Given the description of an element on the screen output the (x, y) to click on. 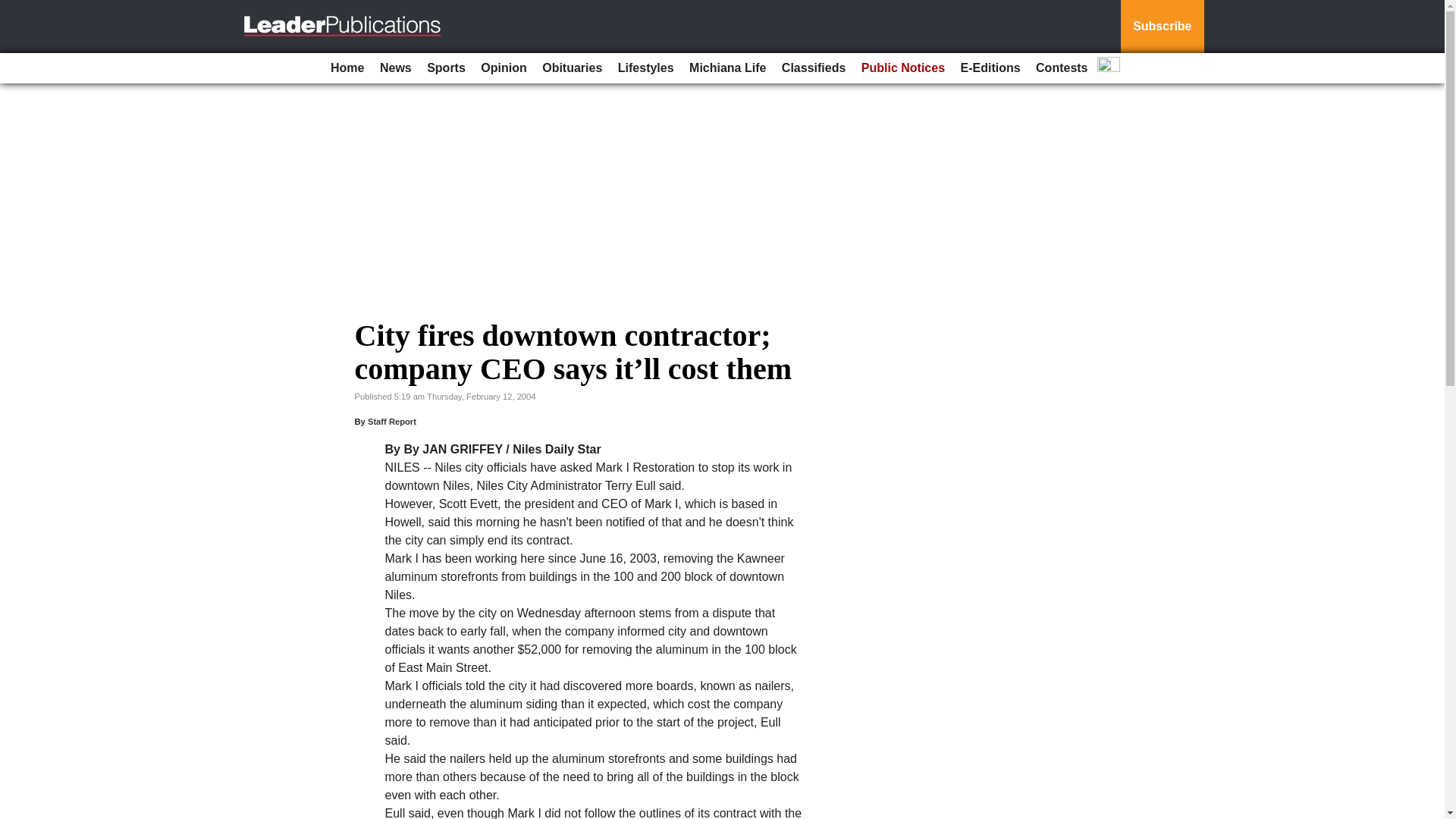
Go (13, 9)
Opinion (503, 68)
Staff Report (392, 420)
Home (346, 68)
News (395, 68)
Classifieds (813, 68)
Sports (445, 68)
Michiana Life (726, 68)
Obituaries (571, 68)
Lifestyles (645, 68)
